Given the description of an element on the screen output the (x, y) to click on. 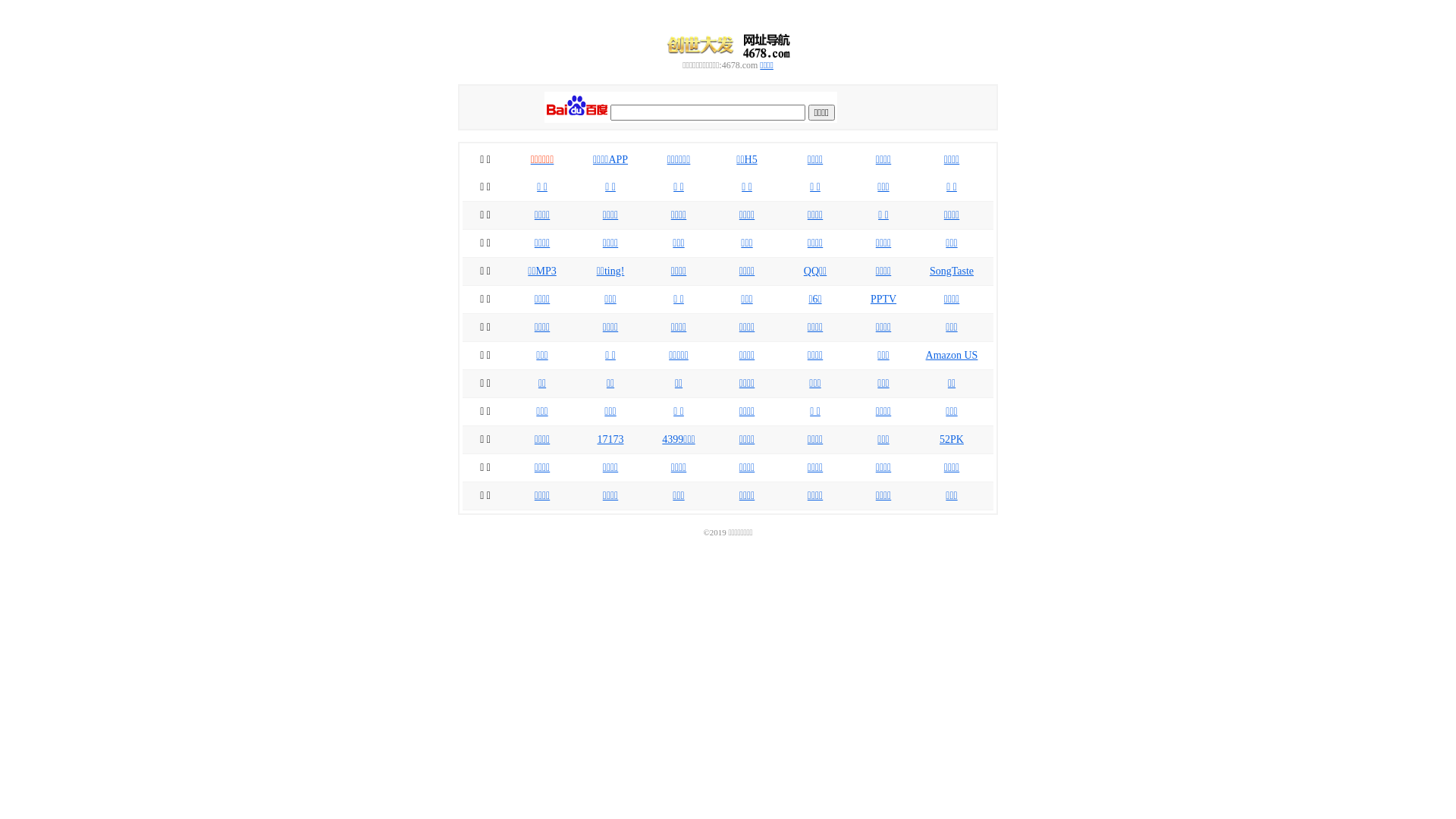
PPTV Element type: text (883, 298)
Amazon US Element type: text (951, 354)
SongTaste Element type: text (951, 270)
52PK Element type: text (951, 439)
17173 Element type: text (610, 439)
